Given the description of an element on the screen output the (x, y) to click on. 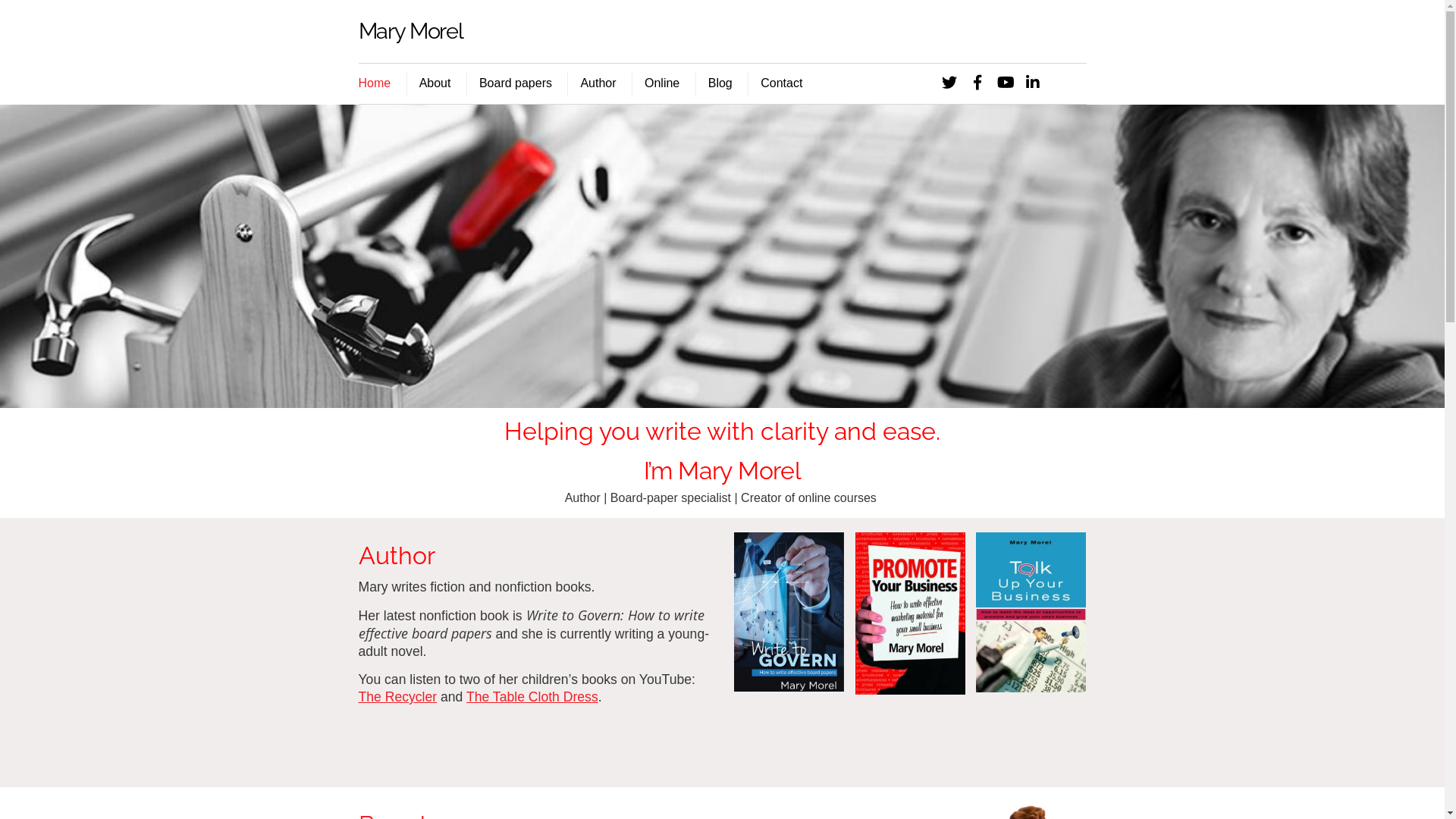
About Element type: text (434, 84)
Online Element type: text (661, 84)
Contact Element type: text (780, 84)
Mary Morel Element type: text (409, 30)
The Recycler Element type: text (396, 696)
The Table Cloth Dress Element type: text (532, 696)
9781865089317-min Element type: hover (910, 612)
Home Element type: text (379, 84)
Home Element type: hover (789, 611)
talk-up-your-business Element type: hover (1030, 612)
Board papers Element type: text (515, 84)
Blog Element type: text (719, 84)
Author Element type: text (597, 84)
